Given the description of an element on the screen output the (x, y) to click on. 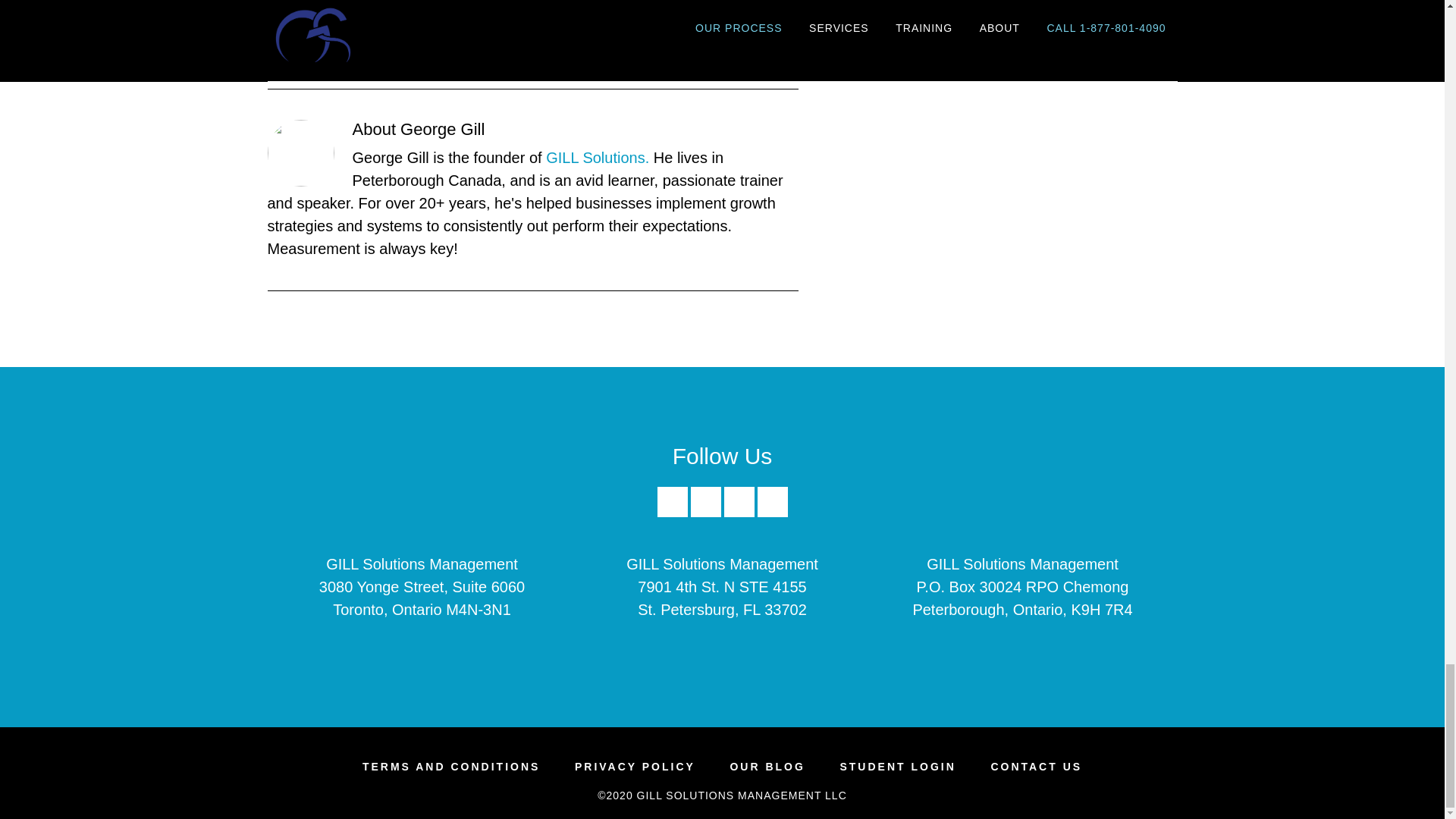
Facebook (671, 501)
Twitter (738, 501)
Twitter (738, 513)
LinkedIn (705, 501)
YouTube (772, 513)
YouTube (772, 501)
LinkedIn (705, 513)
Facebook (671, 513)
